Given the description of an element on the screen output the (x, y) to click on. 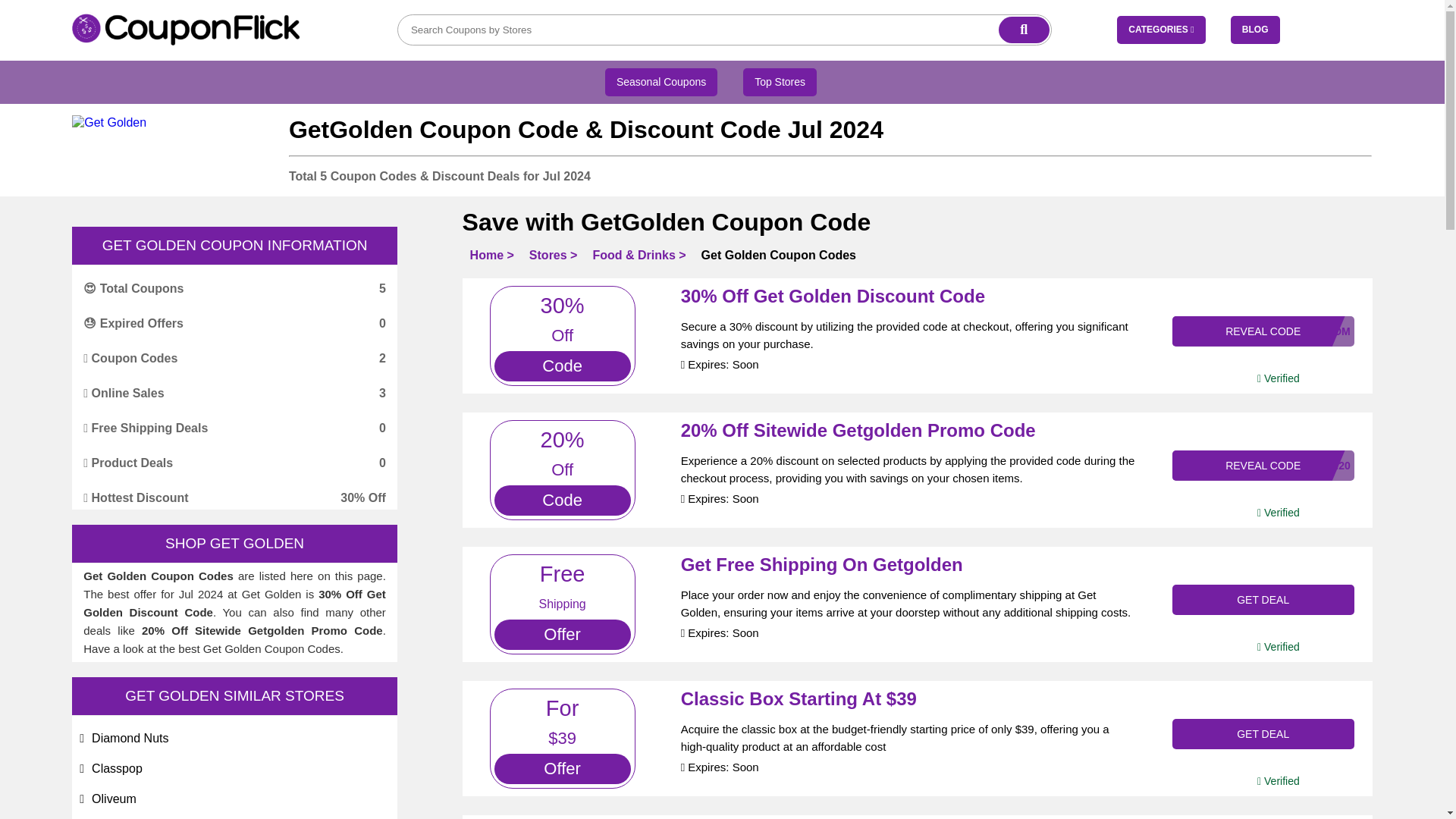
Top Stores (779, 81)
BLOG (1254, 29)
search button (1023, 29)
Seasonal Coupons (660, 81)
Diamond Nuts (129, 738)
Oliveum (113, 798)
Get Golden Coupon Codes and Deals (109, 122)
GET GOLDEN (256, 543)
Classpop (116, 768)
